Given the description of an element on the screen output the (x, y) to click on. 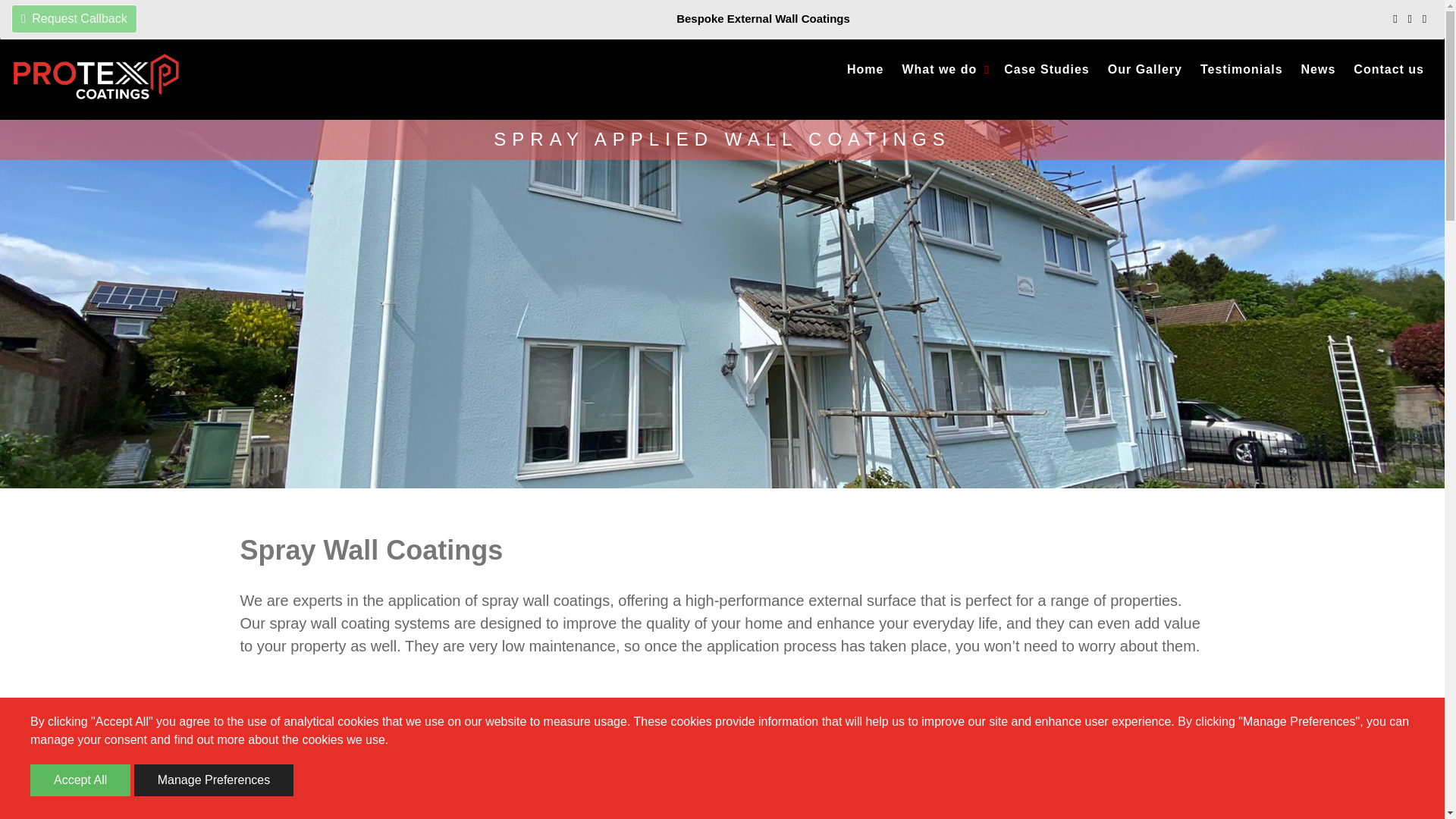
News (1318, 69)
Testimonials (1241, 69)
Home (865, 69)
What we do (943, 69)
Our Gallery (1144, 69)
Case Studies (1045, 69)
Send (356, 198)
  Request Callback (73, 18)
Contact us (1388, 69)
